Given the description of an element on the screen output the (x, y) to click on. 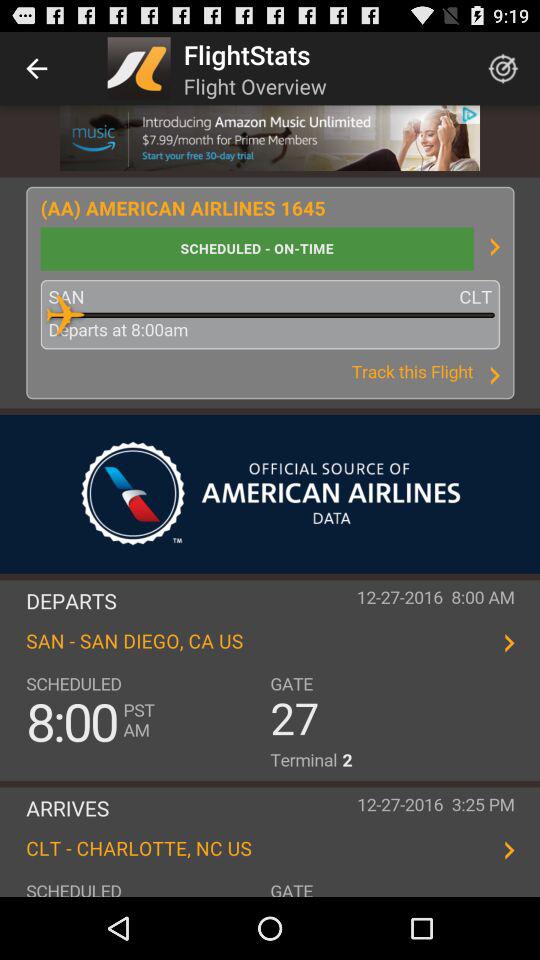
select advertisement (270, 137)
